Given the description of an element on the screen output the (x, y) to click on. 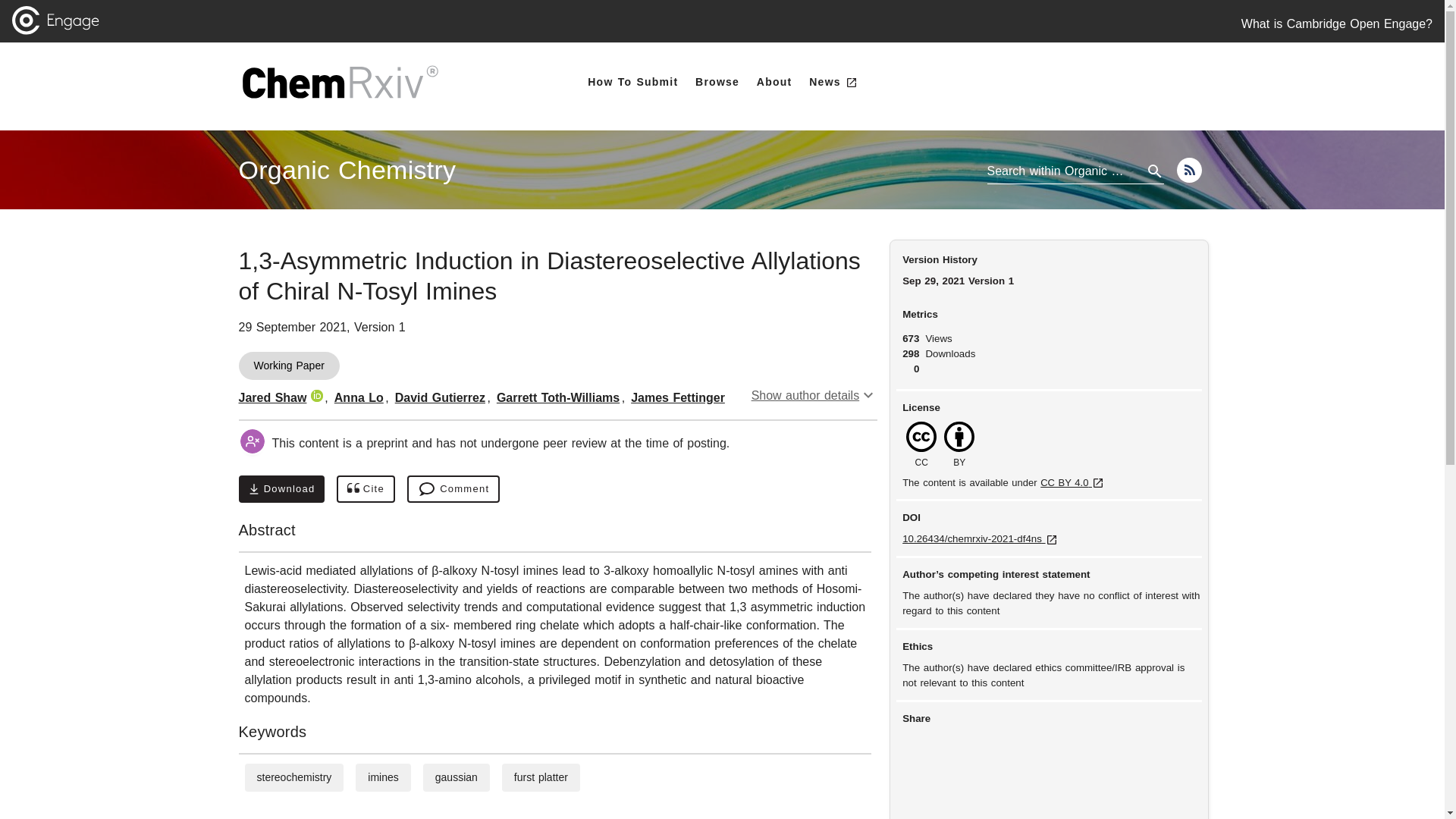
gaussian (456, 776)
Garrett Toth-Williams (558, 397)
imines (382, 776)
How To Submit (632, 81)
David Gutierrez (439, 397)
Download (280, 488)
furst platter (540, 776)
About (773, 81)
stereochemistry (293, 776)
James Fettinger (677, 397)
Jared Shaw (271, 397)
Comment (453, 488)
Show author details (814, 395)
What is Cambridge Open Engage? (1336, 24)
Browse (716, 81)
